Given the description of an element on the screen output the (x, y) to click on. 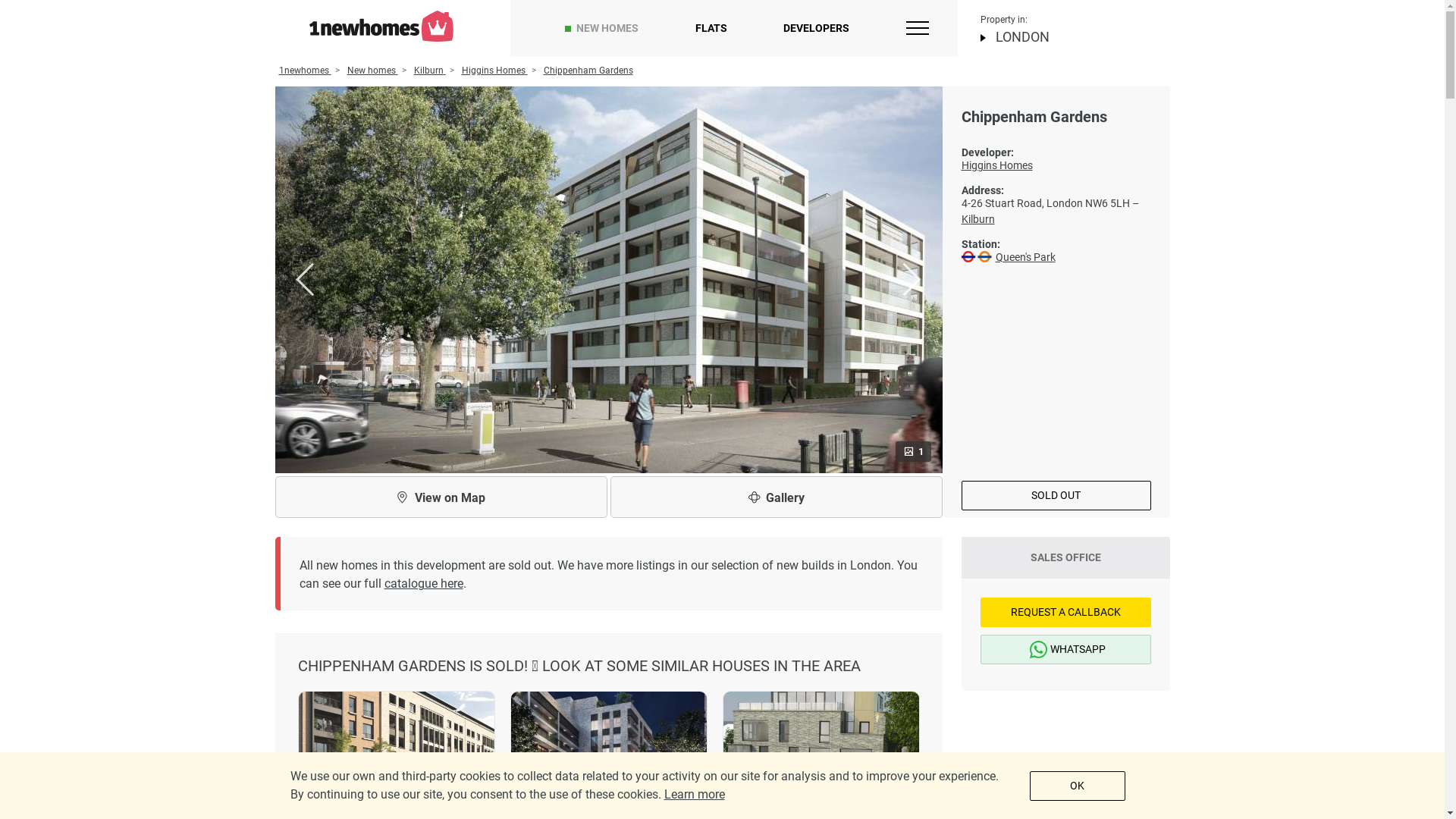
WHATSAPP Element type: text (1064, 649)
Learn more Element type: text (694, 794)
SOLD OUT Element type: text (1056, 495)
Chippenham Gardens Element type: text (587, 70)
View on Map Element type: text (440, 496)
Queen's Park Element type: text (1024, 257)
New homes in London Element type: hover (381, 25)
Gallery Chippenham Gardens Element type: hover (607, 279)
REQUEST A CALLBACK Element type: text (1064, 612)
catalogue here Element type: text (422, 583)
Kilburn Element type: text (429, 70)
New homes Element type: text (372, 70)
FLATS Element type: text (711, 28)
Gallery Element type: text (775, 496)
Higgins Homes Element type: text (494, 70)
NEW HOMES Element type: text (607, 28)
Kilburn Element type: text (977, 219)
Higgins Homes Element type: text (1056, 165)
1newhomes Element type: text (305, 70)
DEVELOPERS Element type: text (816, 28)
